Given the description of an element on the screen output the (x, y) to click on. 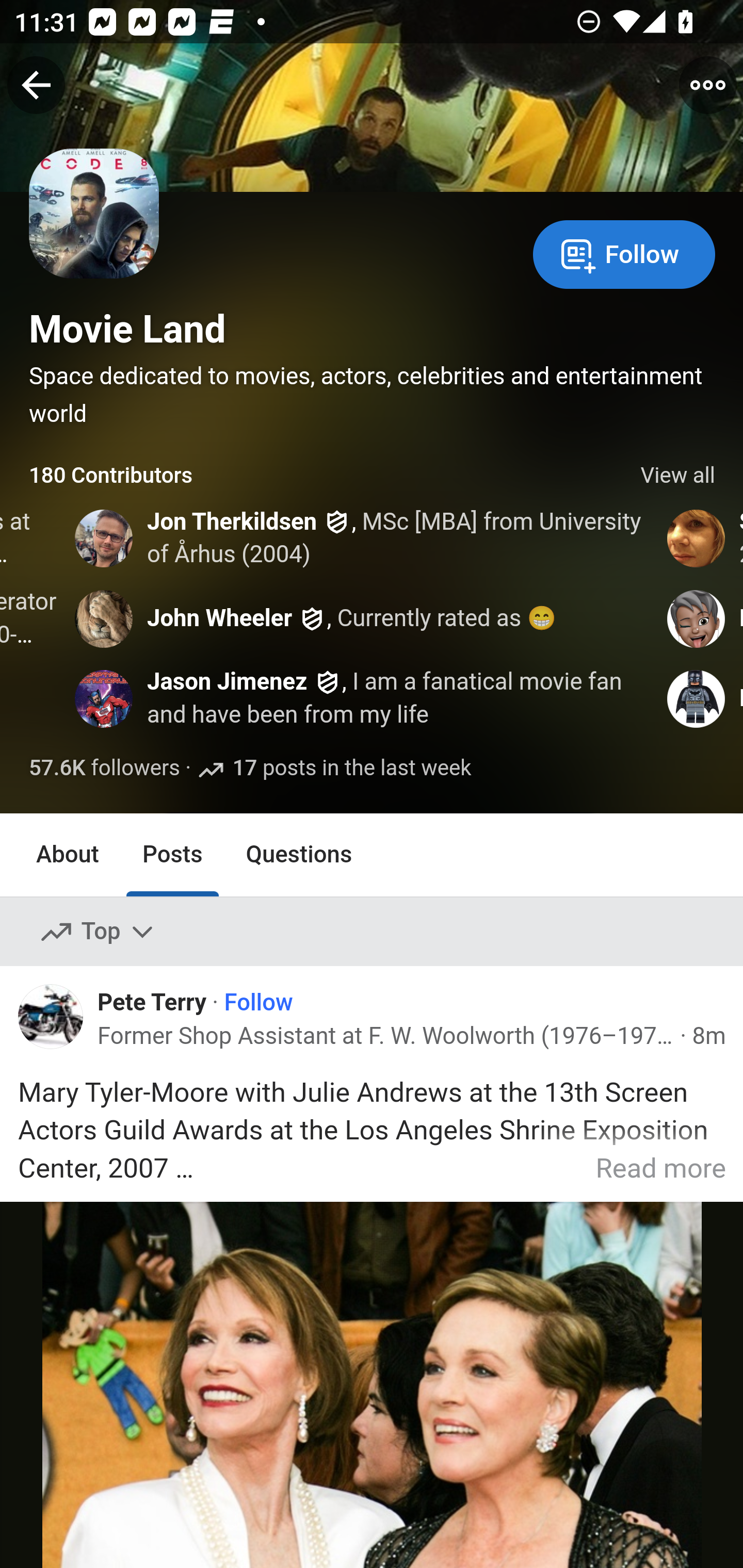
Follow (623, 252)
Movie Land (127, 329)
View all (677, 475)
Jon Therkildsen (232, 521)
Profile photo for Jon Therkildsen (103, 538)
Profile photo for Susan Oleschuk (695, 538)
Profile photo for John Wheeler (103, 617)
Profile photo for Meya Mohamed (695, 617)
John Wheeler (219, 618)
Jason Jimenez (227, 682)
Profile photo for Jason Jimenez (103, 699)
Profile photo for Miles Styles (695, 699)
About (68, 854)
Posts (171, 854)
Questions (299, 854)
Top (97, 931)
Profile photo for Pete Terry (50, 1016)
Pete Terry (152, 1001)
Follow (258, 1002)
